Given the description of an element on the screen output the (x, y) to click on. 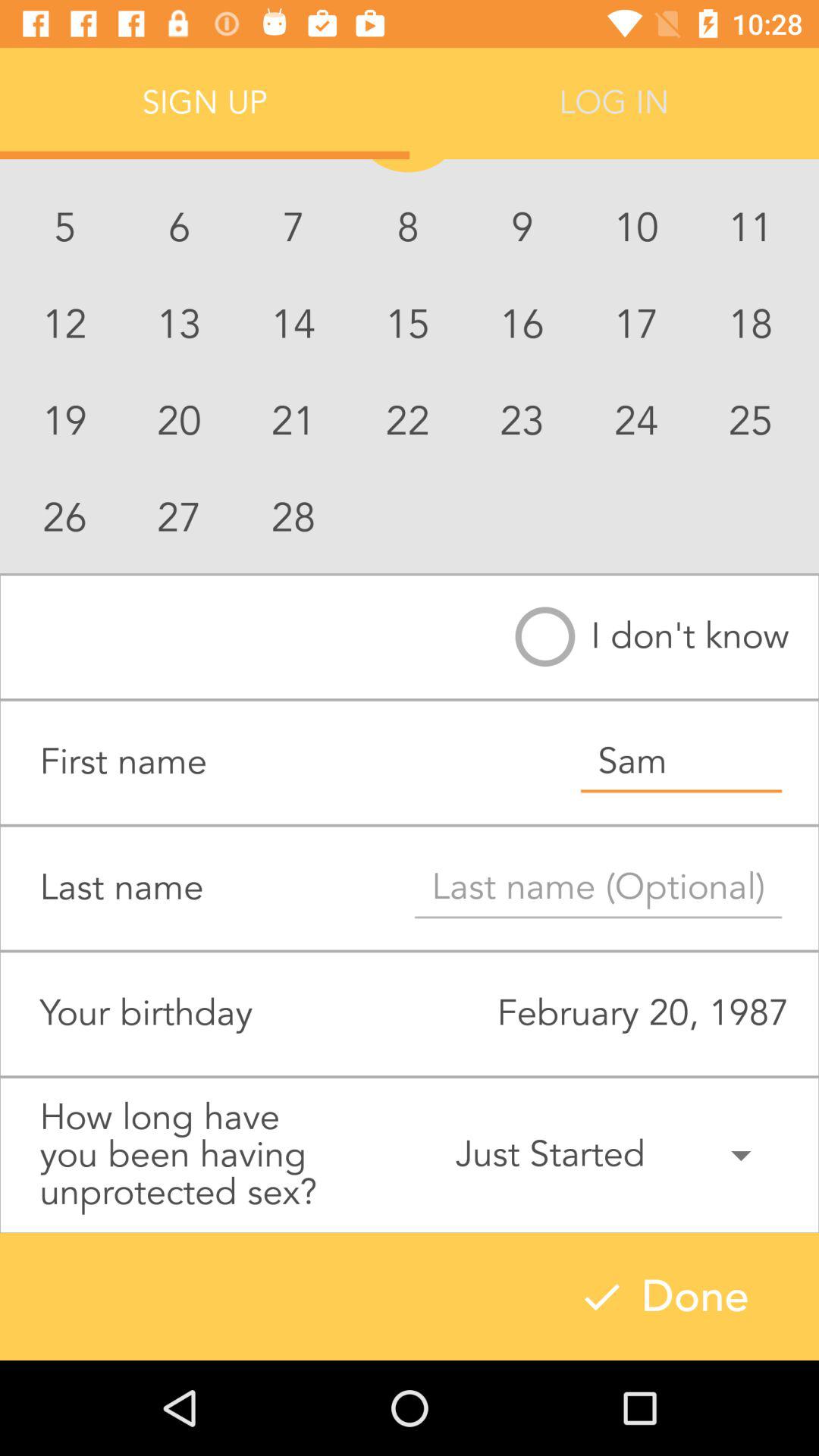
enter the text in last name field (597, 888)
